Given the description of an element on the screen output the (x, y) to click on. 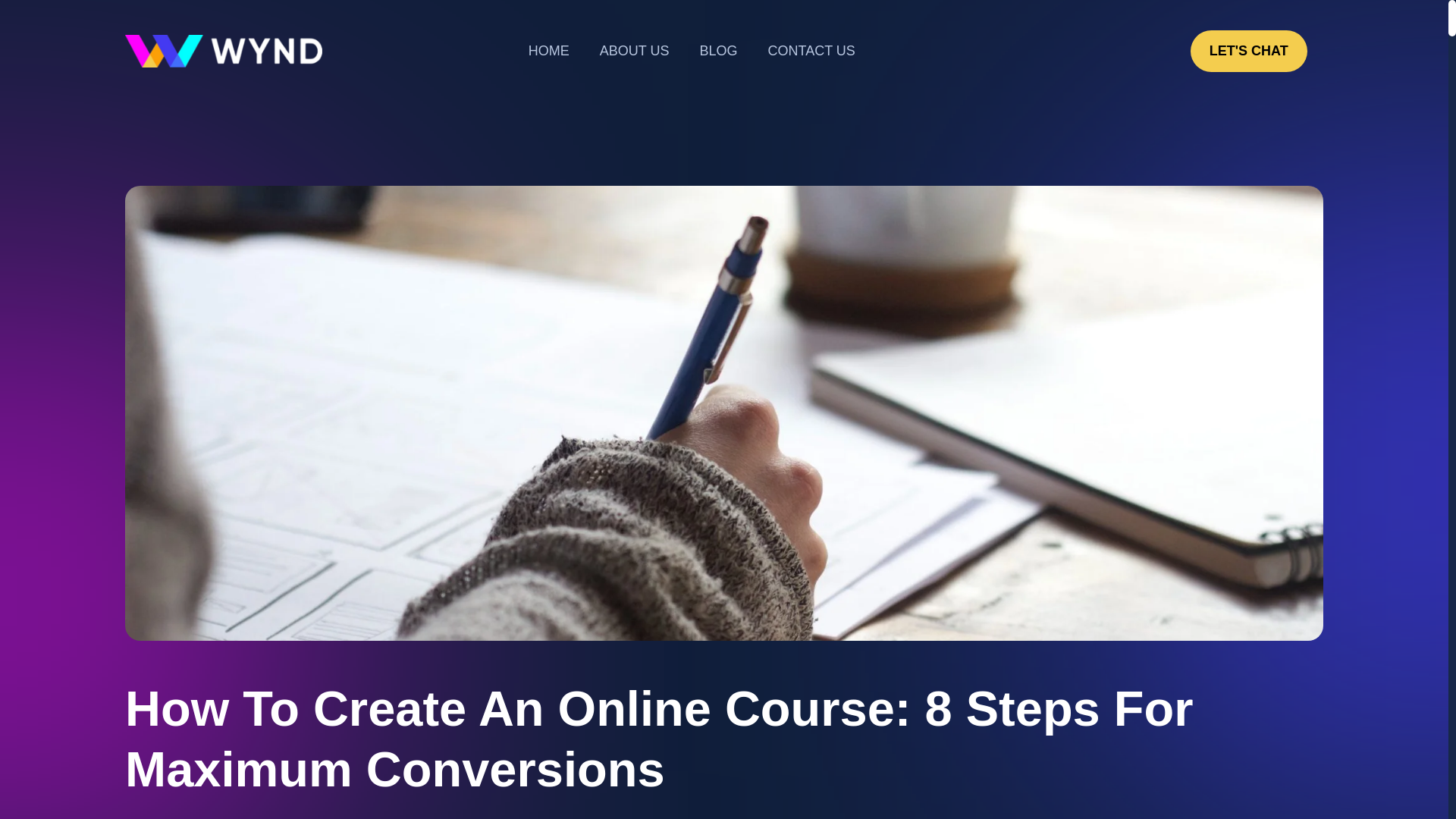
CONTACT US (810, 51)
ABOUT US (634, 51)
BLOG (718, 51)
LET'S CHAT (1249, 51)
HOME (549, 51)
